Given the description of an element on the screen output the (x, y) to click on. 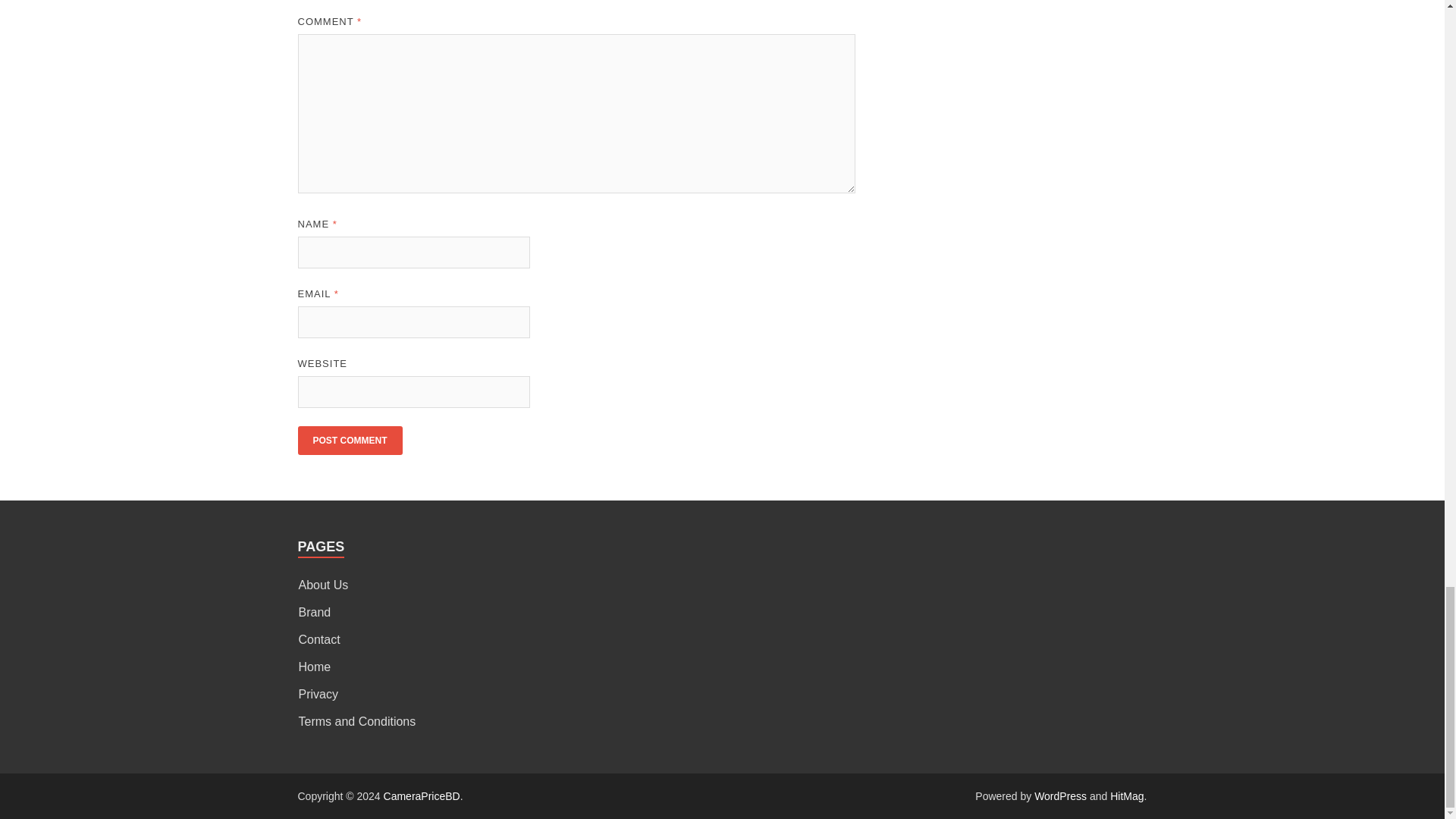
HitMag WordPress Theme (1125, 796)
CameraPriceBD (422, 796)
Post Comment (349, 440)
WordPress (1059, 796)
